Given the description of an element on the screen output the (x, y) to click on. 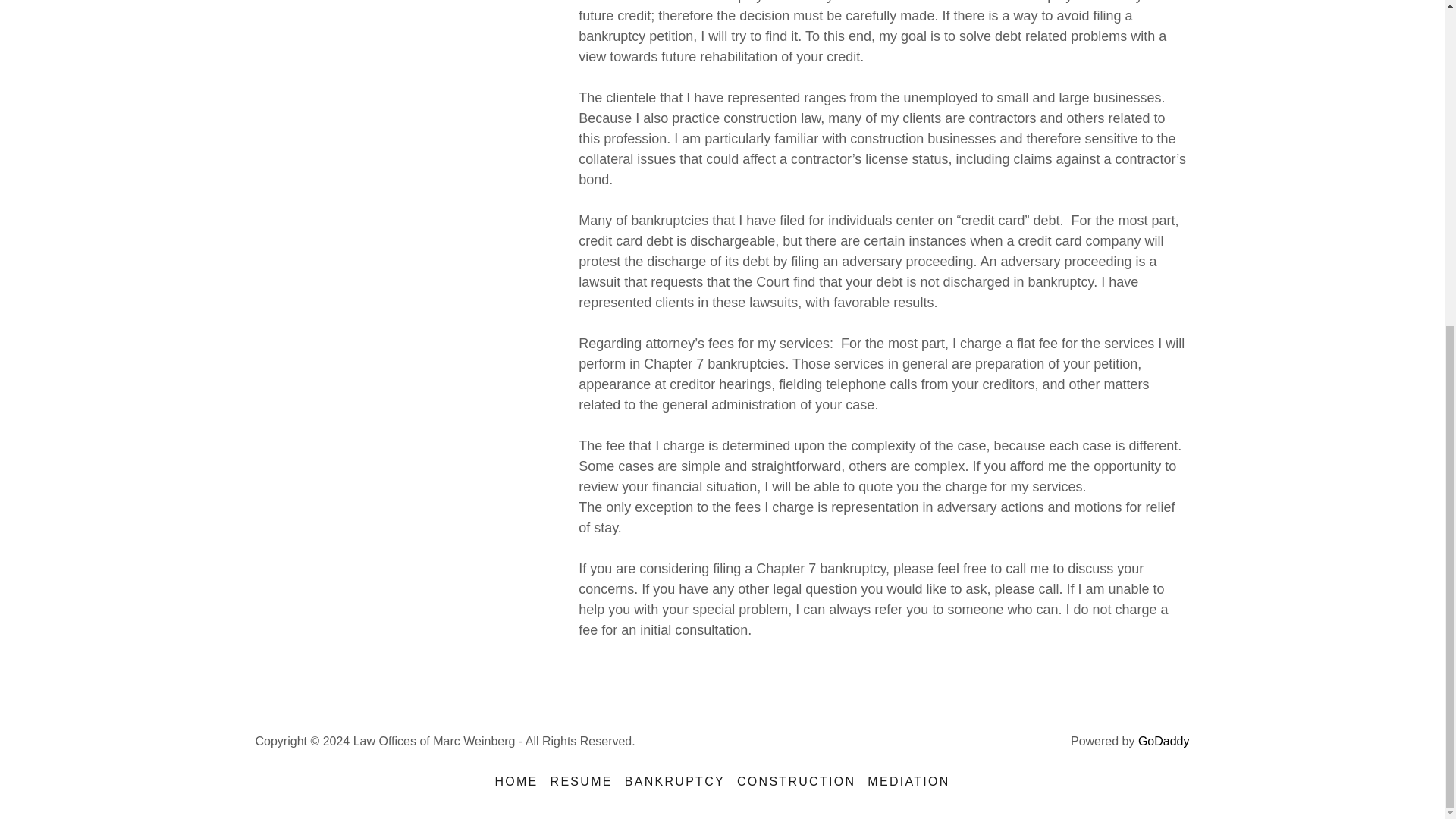
BANKRUPTCY (674, 781)
RESUME (581, 781)
HOME (515, 781)
CONSTRUCTION (795, 781)
MEDIATION (908, 781)
GoDaddy (1163, 740)
